Given the description of an element on the screen output the (x, y) to click on. 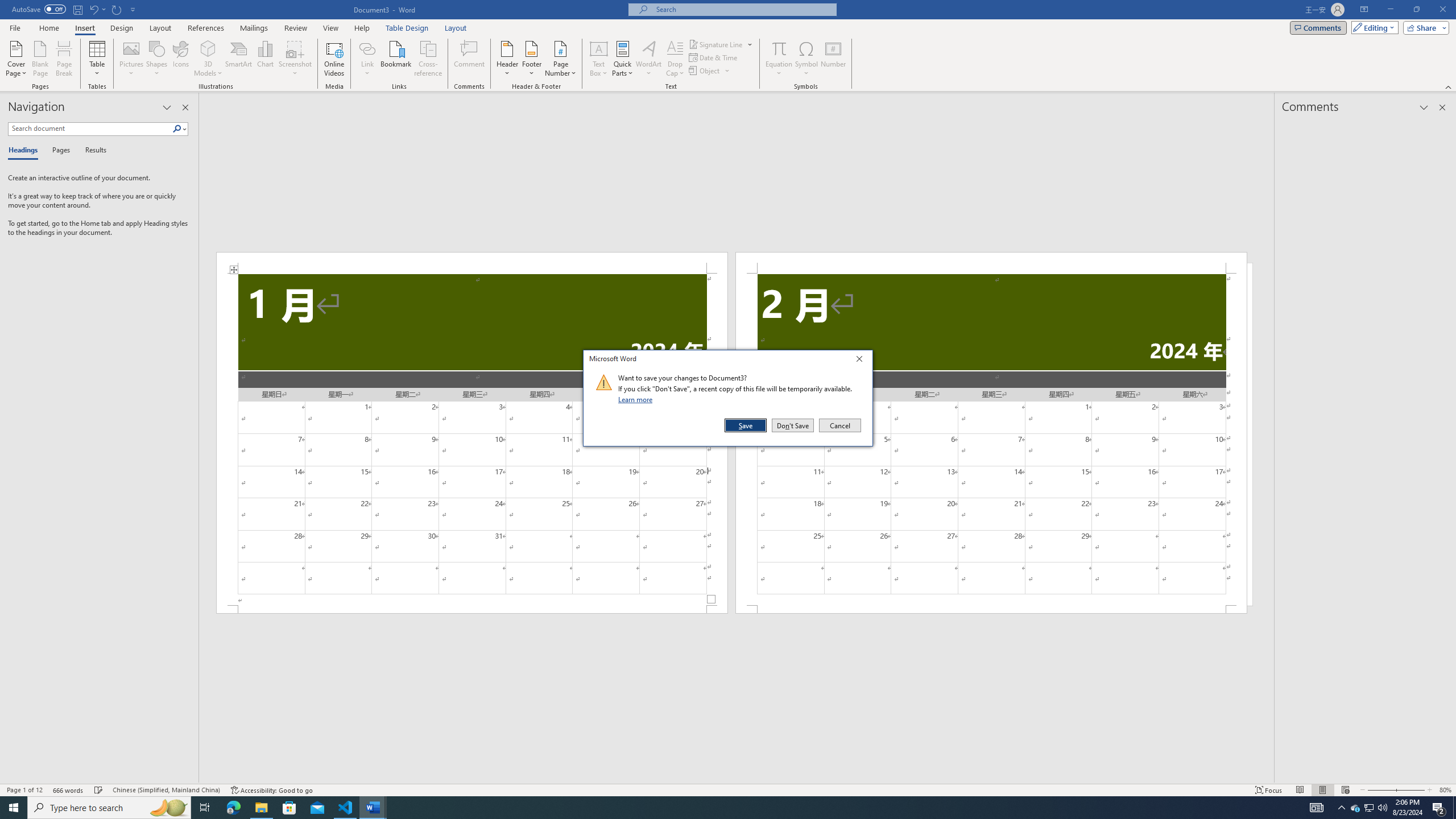
Header -Section 2- (991, 263)
Header -Section 1- (471, 263)
Task View (204, 807)
Footer (531, 58)
Number... (833, 58)
Equation (778, 58)
Footer -Section 2- (991, 609)
Class: NetUIImage (603, 382)
Drop Cap (674, 58)
Spelling and Grammar Check Checking (98, 790)
More Options (778, 68)
AutomationID: 4105 (1316, 807)
